Given the description of an element on the screen output the (x, y) to click on. 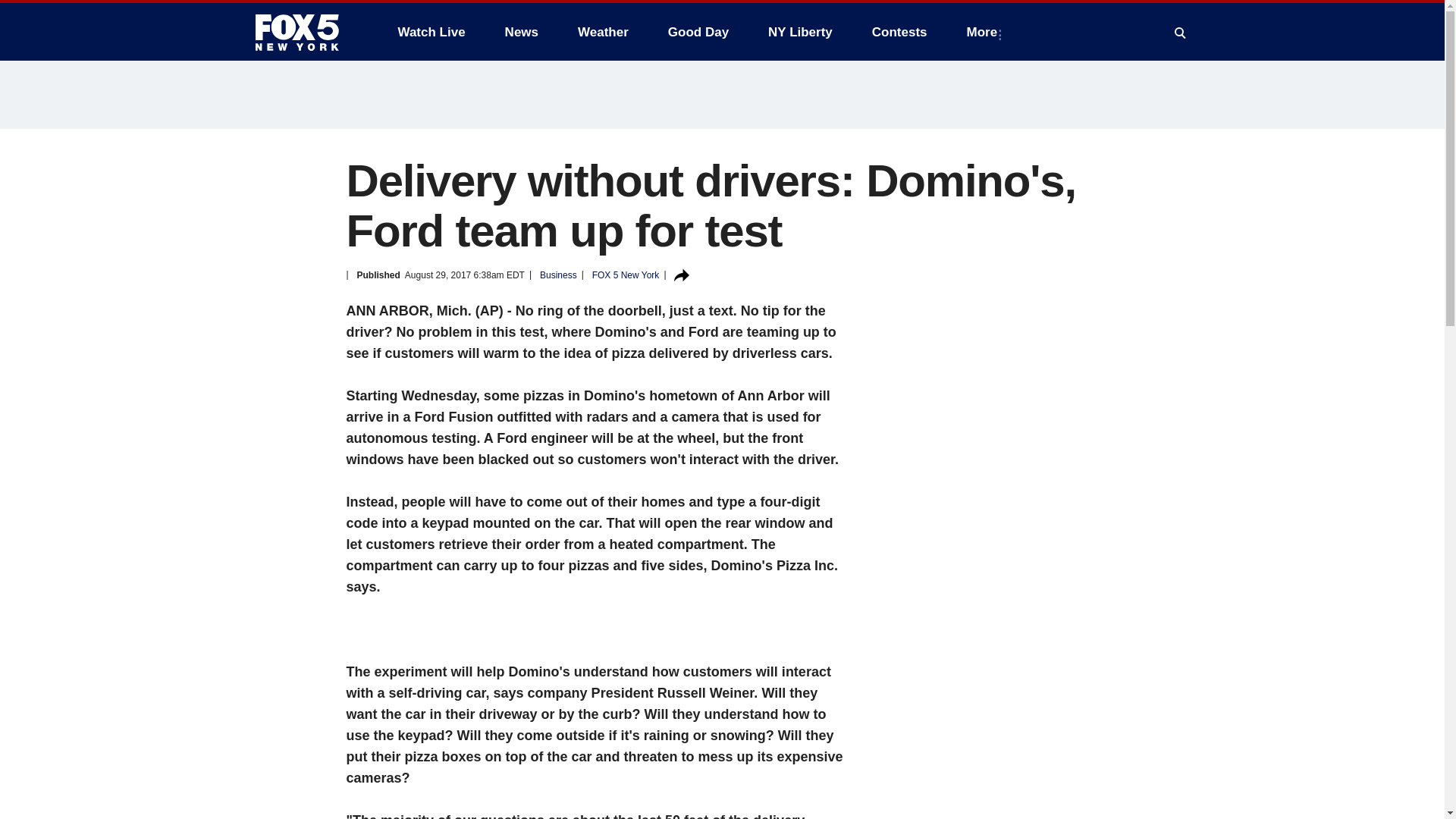
Contests (899, 32)
NY Liberty (799, 32)
More (985, 32)
News (521, 32)
Good Day (698, 32)
Weather (603, 32)
Watch Live (431, 32)
